Given the description of an element on the screen output the (x, y) to click on. 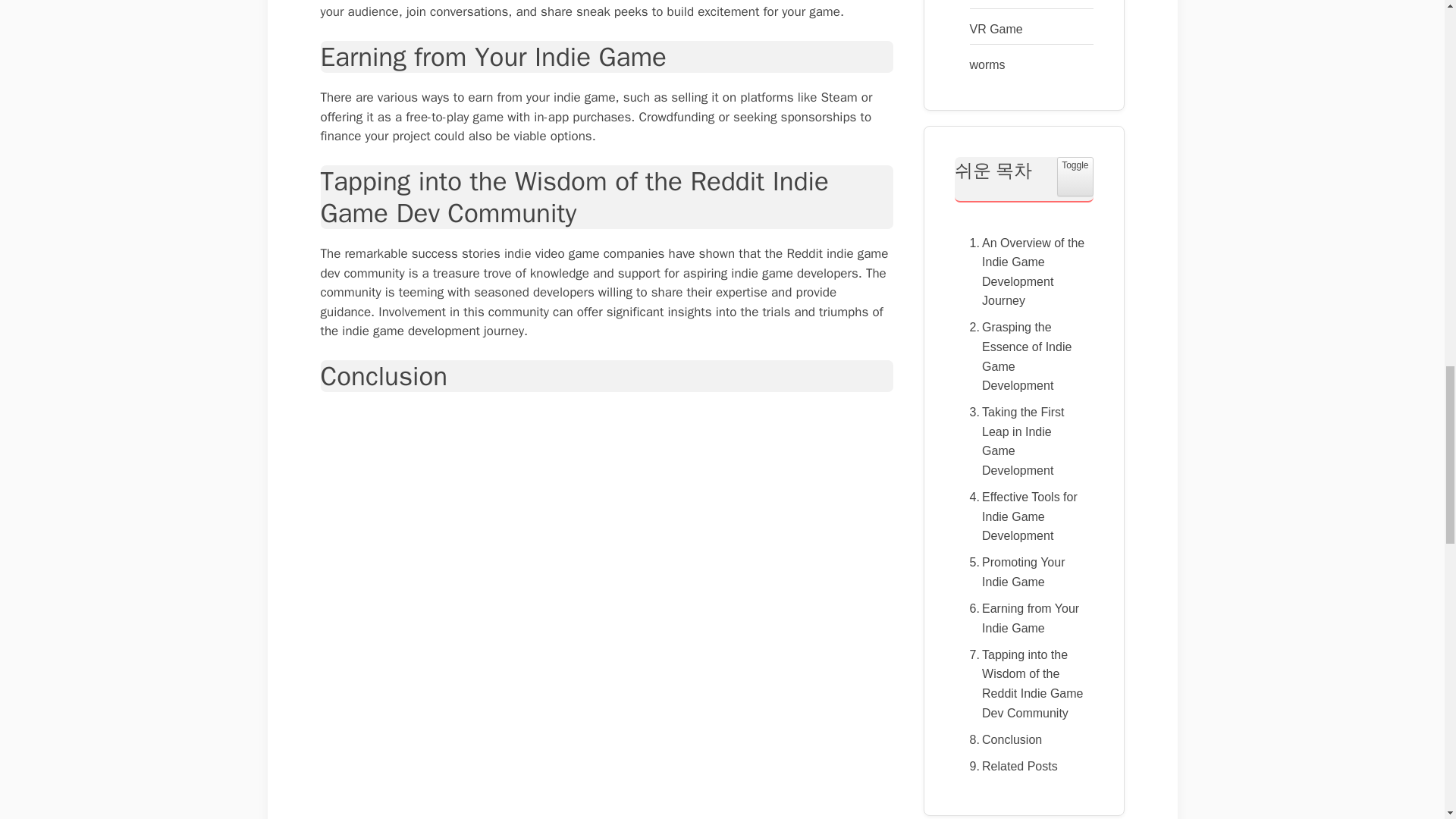
Promoting Your Indie Game (1022, 571)
Earning from Your Indie Game (1022, 618)
An Overview of the Indie Game Development Journey (1022, 272)
Taking the First Leap in Indie Game Development (1022, 440)
Grasping the Essence of Indie Game Development (1022, 355)
remarkable success stories indie video game companies (503, 253)
Effective Tools for Indie Game Development (1022, 516)
